Given the description of an element on the screen output the (x, y) to click on. 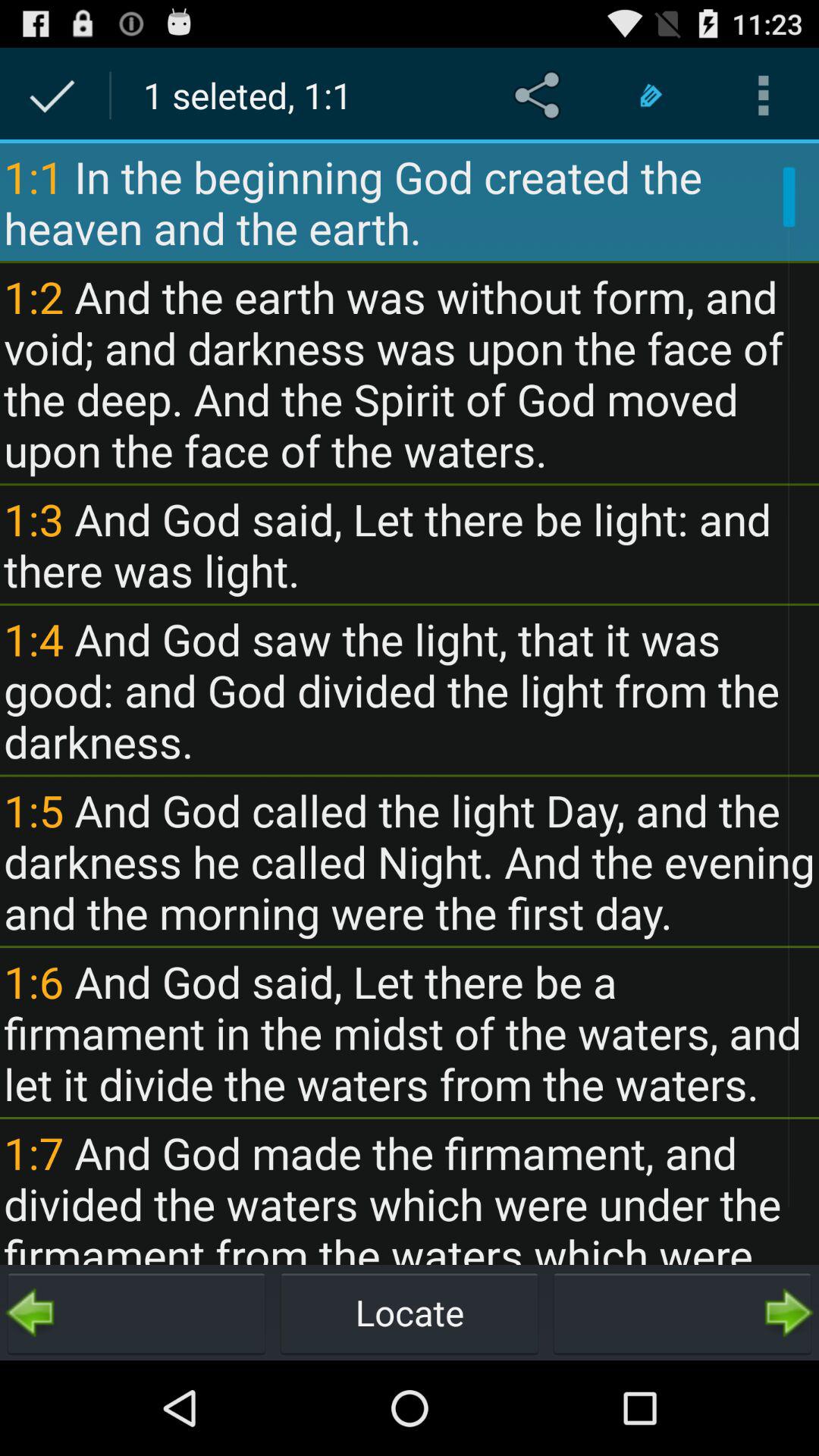
click icon at the bottom left corner (136, 1312)
